Given the description of an element on the screen output the (x, y) to click on. 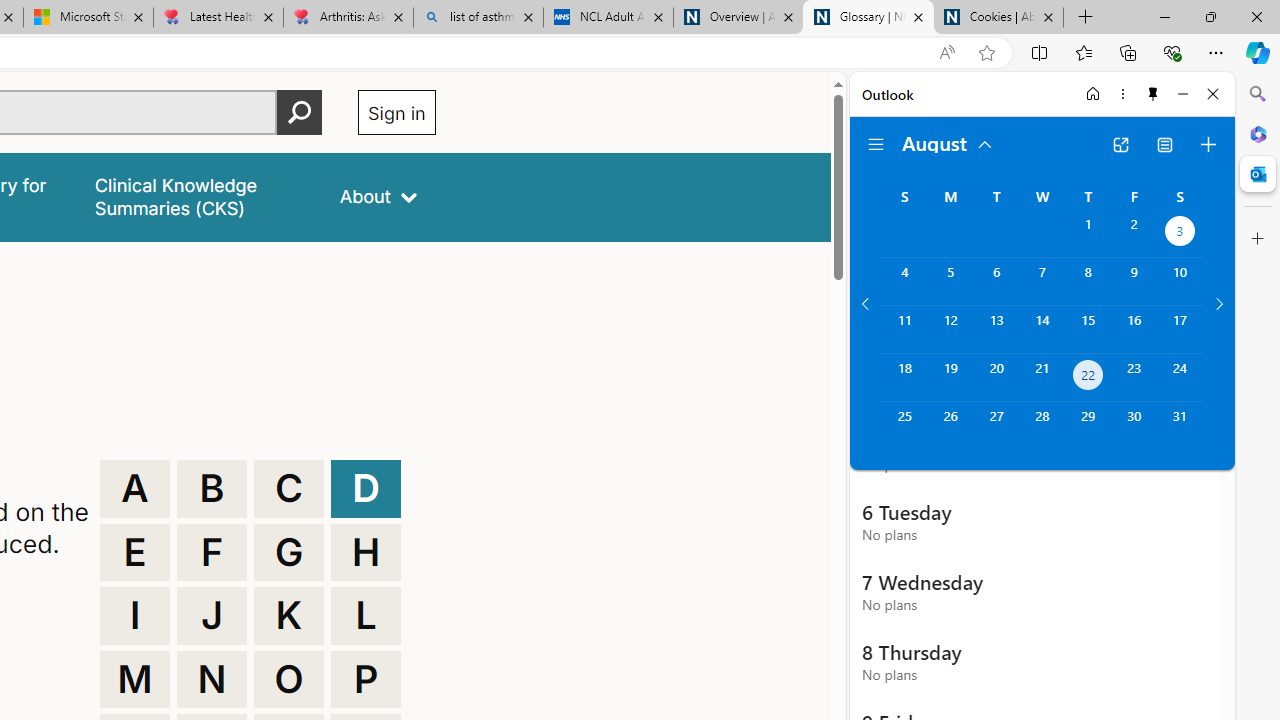
A (134, 488)
Friday, August 30, 2024.  (1134, 425)
Monday, August 26, 2024.  (950, 425)
Microsoft Start (88, 17)
Sign in (396, 112)
P (365, 679)
Sunday, August 18, 2024.  (904, 377)
Friday, August 9, 2024.  (1134, 281)
Thursday, August 8, 2024.  (1088, 281)
list of asthma inhalers uk - Search (477, 17)
Search (1258, 94)
G (289, 551)
Collections (1128, 52)
